Given the description of an element on the screen output the (x, y) to click on. 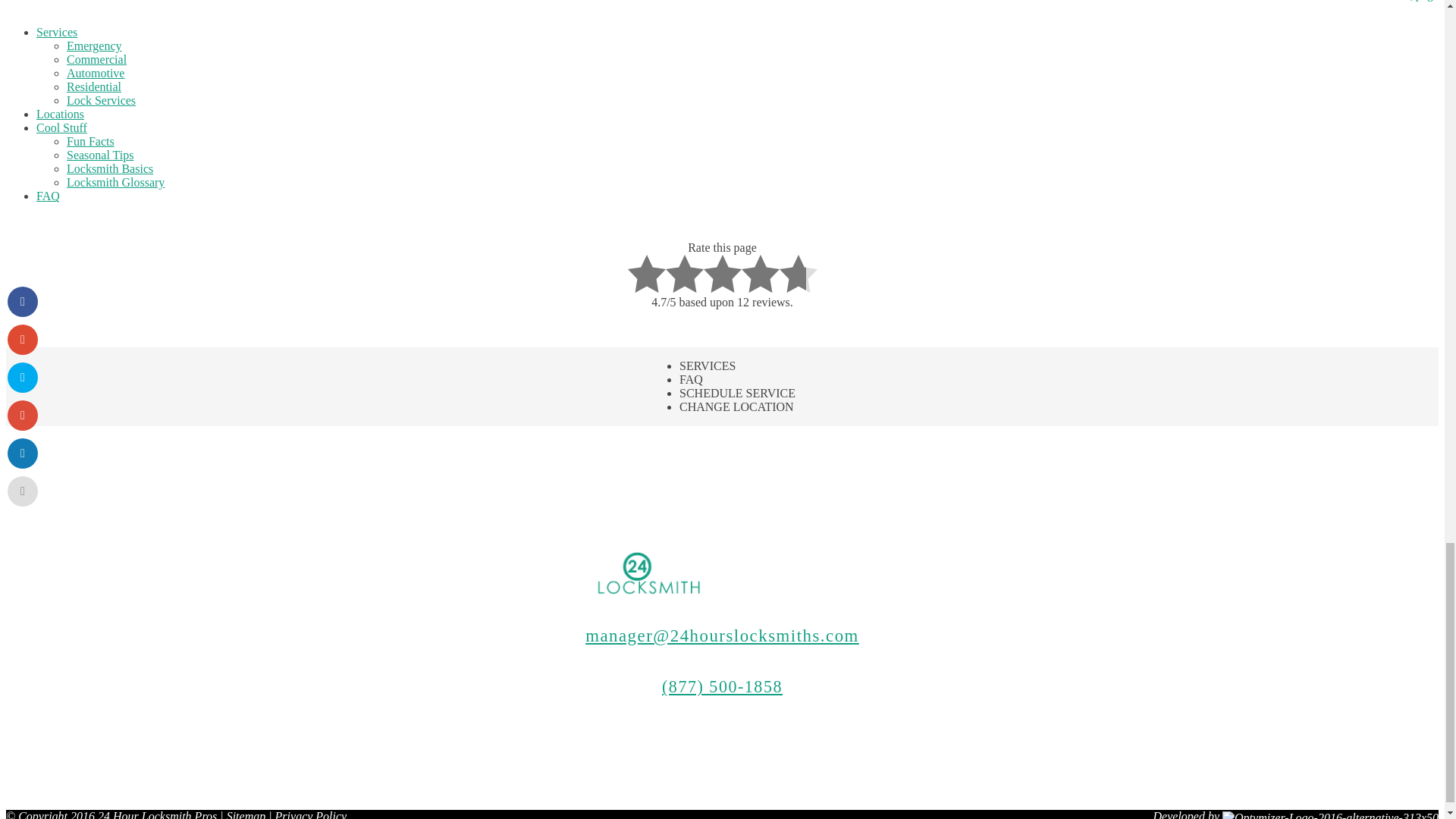
Lock Services (100, 100)
Services (56, 31)
Seasonal Tips (99, 154)
Commercial (96, 59)
Locations (60, 113)
Emergency (94, 45)
Cool Stuff (61, 127)
Automotive (94, 72)
Fun Facts (90, 141)
Residential (93, 86)
